Given the description of an element on the screen output the (x, y) to click on. 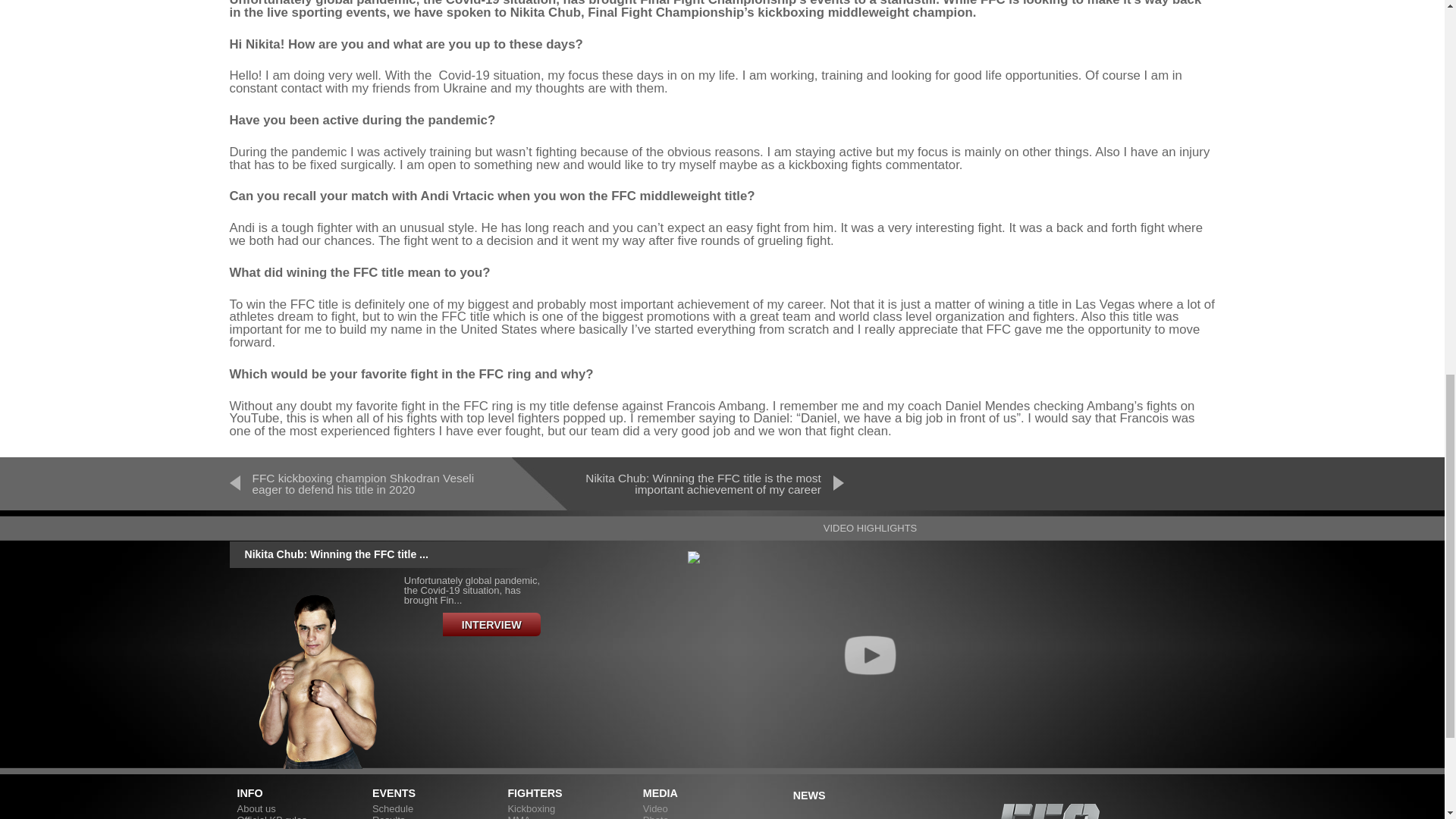
About us (255, 808)
INTERVIEW (491, 624)
